Given the description of an element on the screen output the (x, y) to click on. 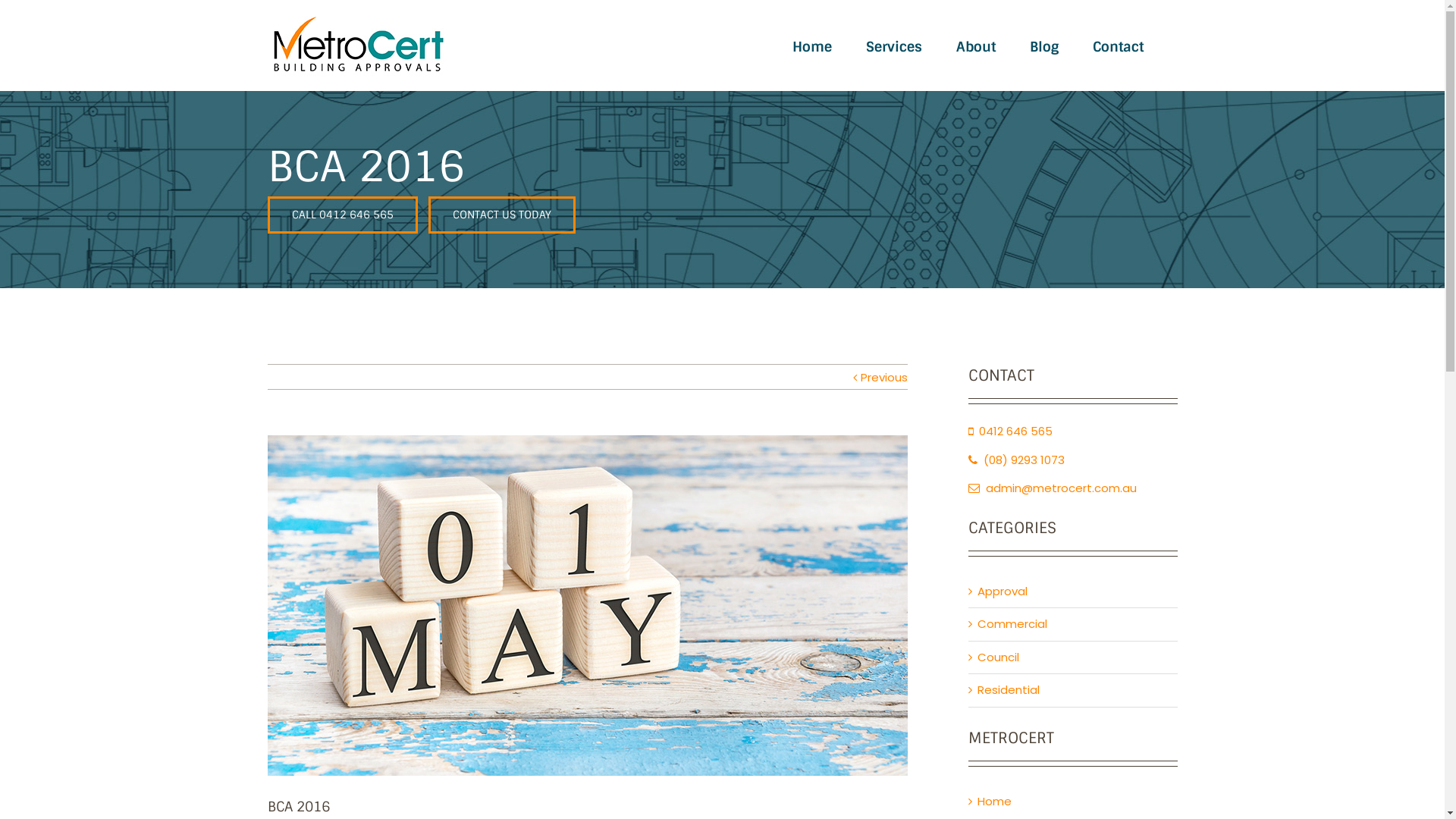
Services Element type: text (894, 45)
Council Element type: text (1072, 657)
View Larger Image Element type: text (586, 605)
Contact Element type: text (1117, 45)
About Element type: text (974, 45)
  (08) 9293 1073 Element type: text (1015, 459)
CALL 0412 646 565 Element type: text (341, 214)
Residential Element type: text (1072, 690)
Blog Element type: text (1043, 45)
  admin@metrocert.com.au Element type: text (1051, 487)
CONTACT US TODAY Element type: text (500, 214)
Home Element type: text (811, 45)
  0412 646 565 Element type: text (1009, 431)
Home Element type: text (993, 801)
Commercial Element type: text (1072, 624)
Previous Element type: text (882, 377)
Approval Element type: text (1072, 590)
